Given the description of an element on the screen output the (x, y) to click on. 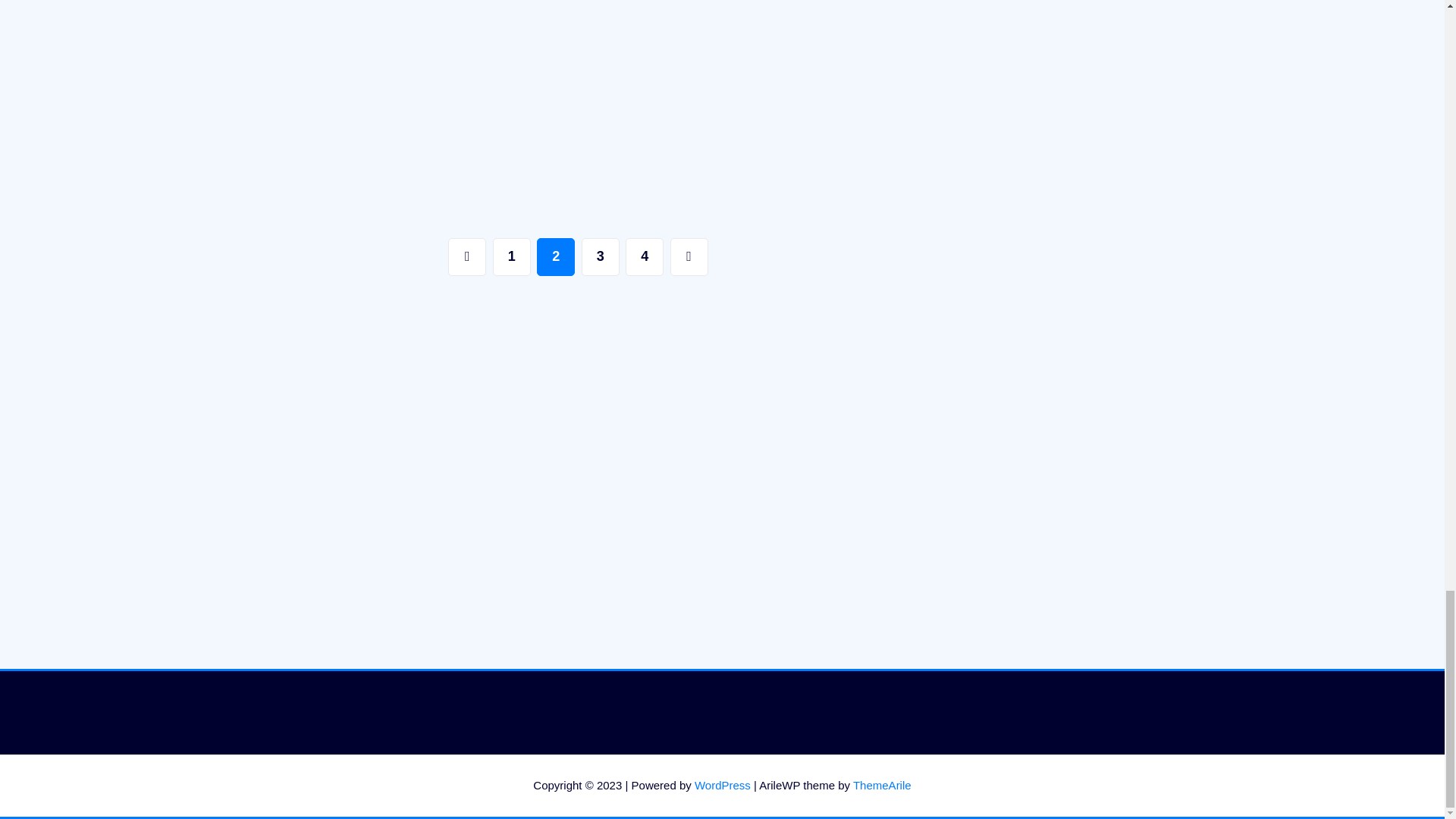
3 (600, 257)
1 (512, 257)
4 (644, 257)
